Given the description of an element on the screen output the (x, y) to click on. 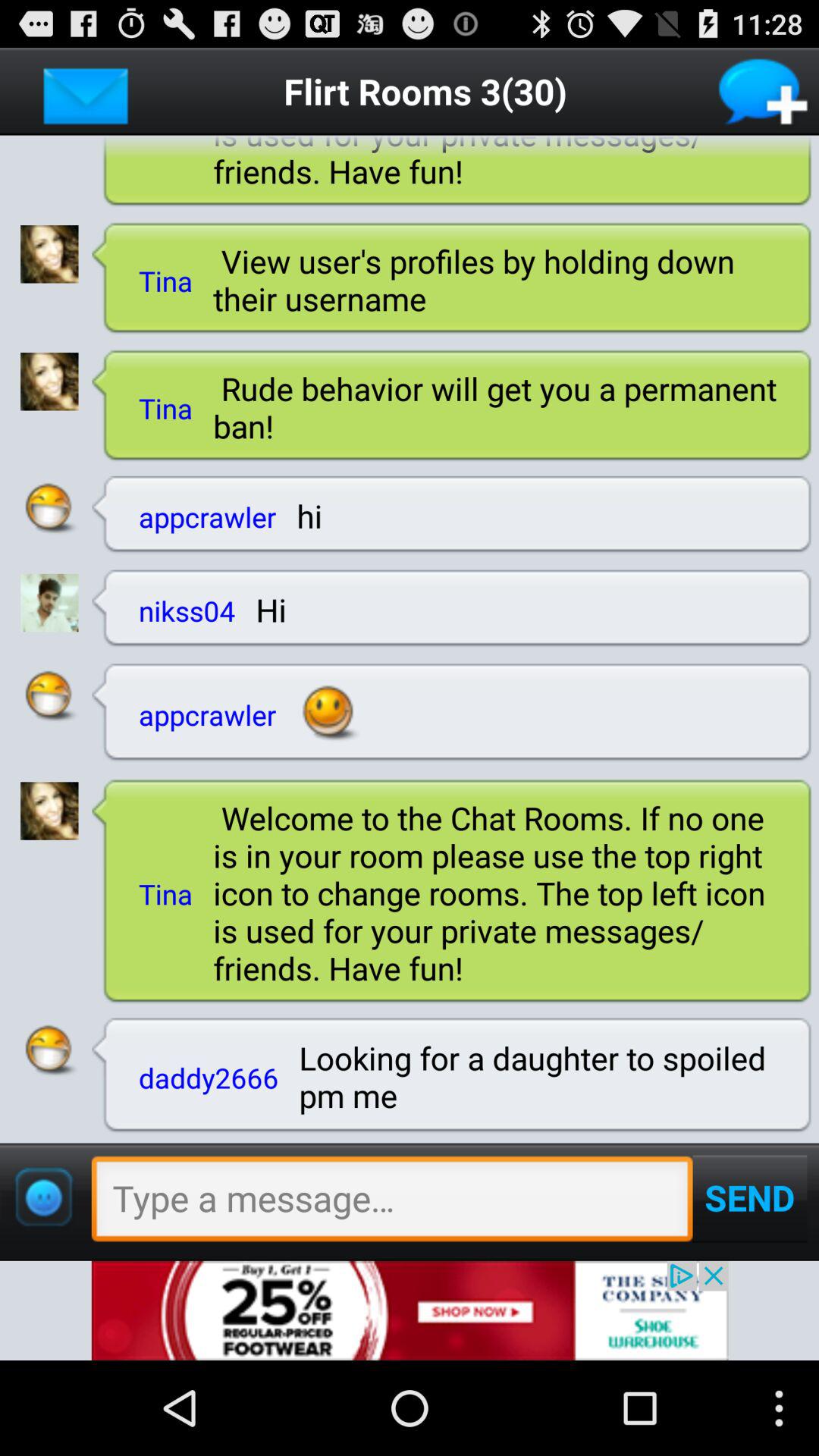
advertisement (409, 1310)
